Given the description of an element on the screen output the (x, y) to click on. 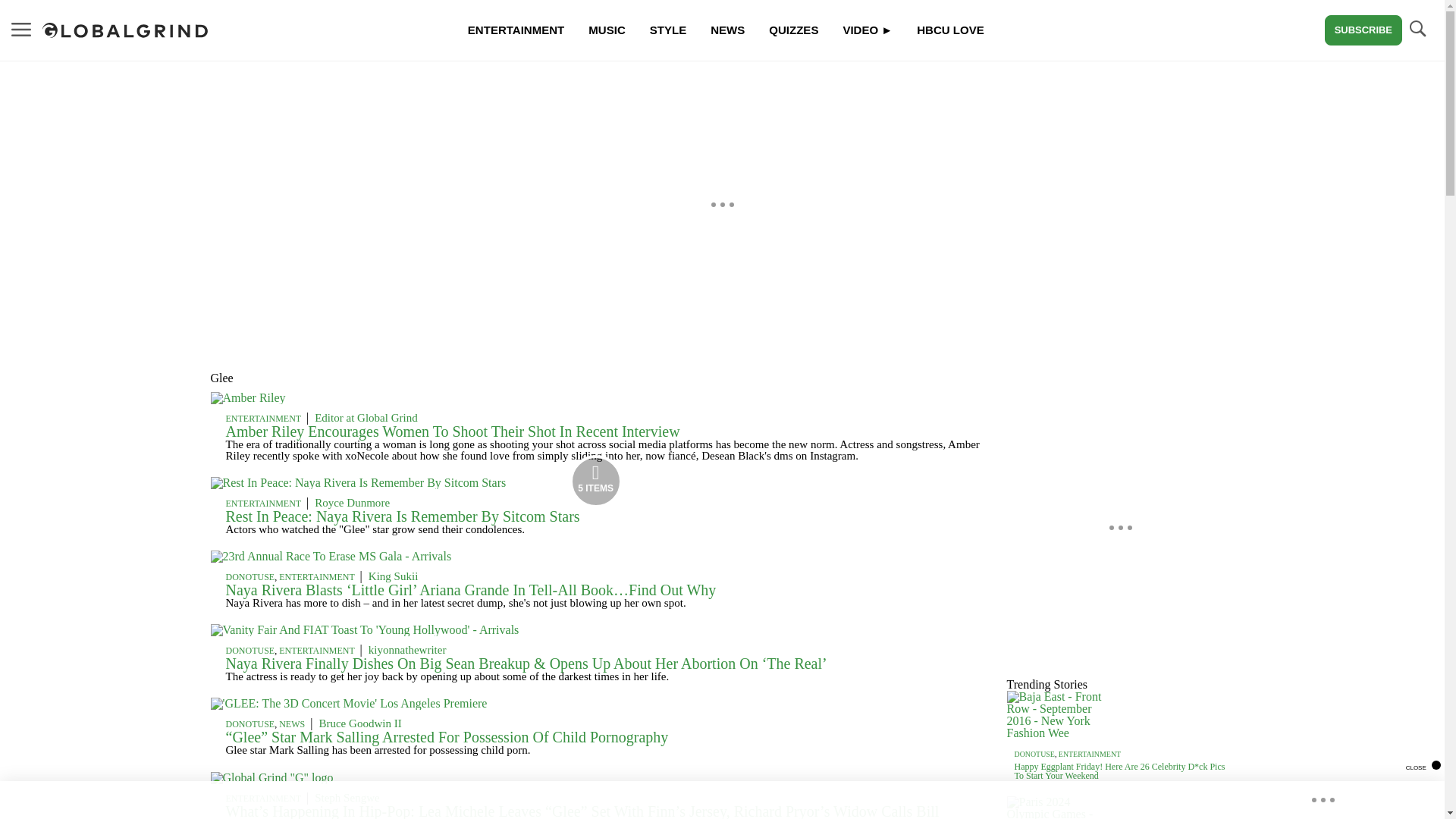
ENTERTAINMENT (263, 418)
MENU (20, 30)
MENU (20, 29)
5 ITEMS (358, 481)
DONOTUSE (250, 724)
SUBSCRIBE (1363, 30)
STYLE (667, 30)
ENTERTAINMENT (263, 502)
Media Playlist (596, 481)
NEWS (291, 724)
TOGGLE SEARCH (1417, 28)
HBCU LOVE (949, 30)
Royce Dunmore (352, 502)
Rest In Peace: Naya Rivera Is Remember By Sitcom Stars (402, 515)
kiyonnathewriter (407, 649)
